Given the description of an element on the screen output the (x, y) to click on. 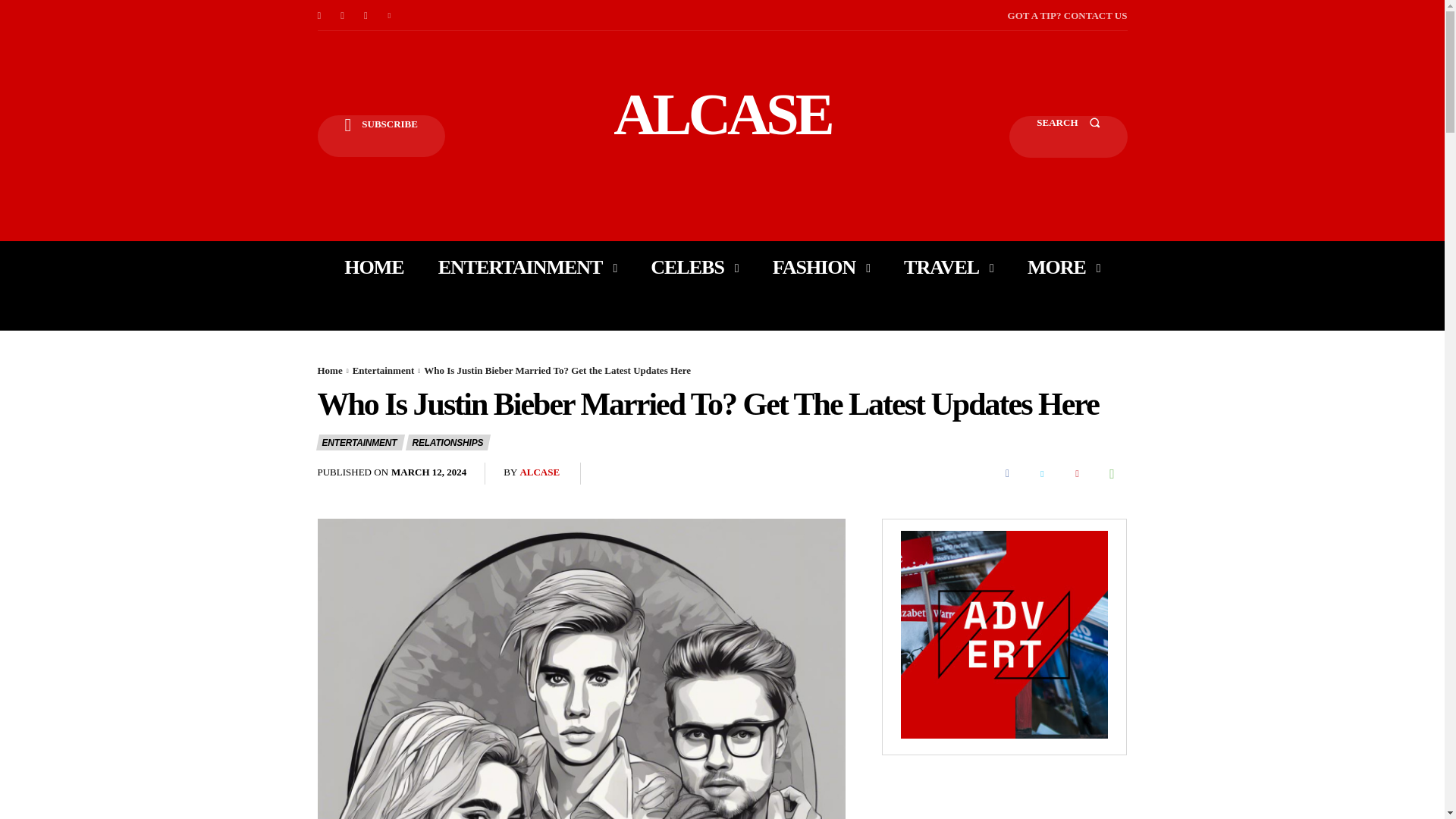
Facebook (318, 15)
ALCASE (722, 113)
GOT A TIP? CONTACT US (1066, 15)
SUBSCRIBE (380, 136)
SEARCH (1067, 137)
TikTok (366, 15)
Instagram (342, 15)
Twitter (389, 15)
